Given the description of an element on the screen output the (x, y) to click on. 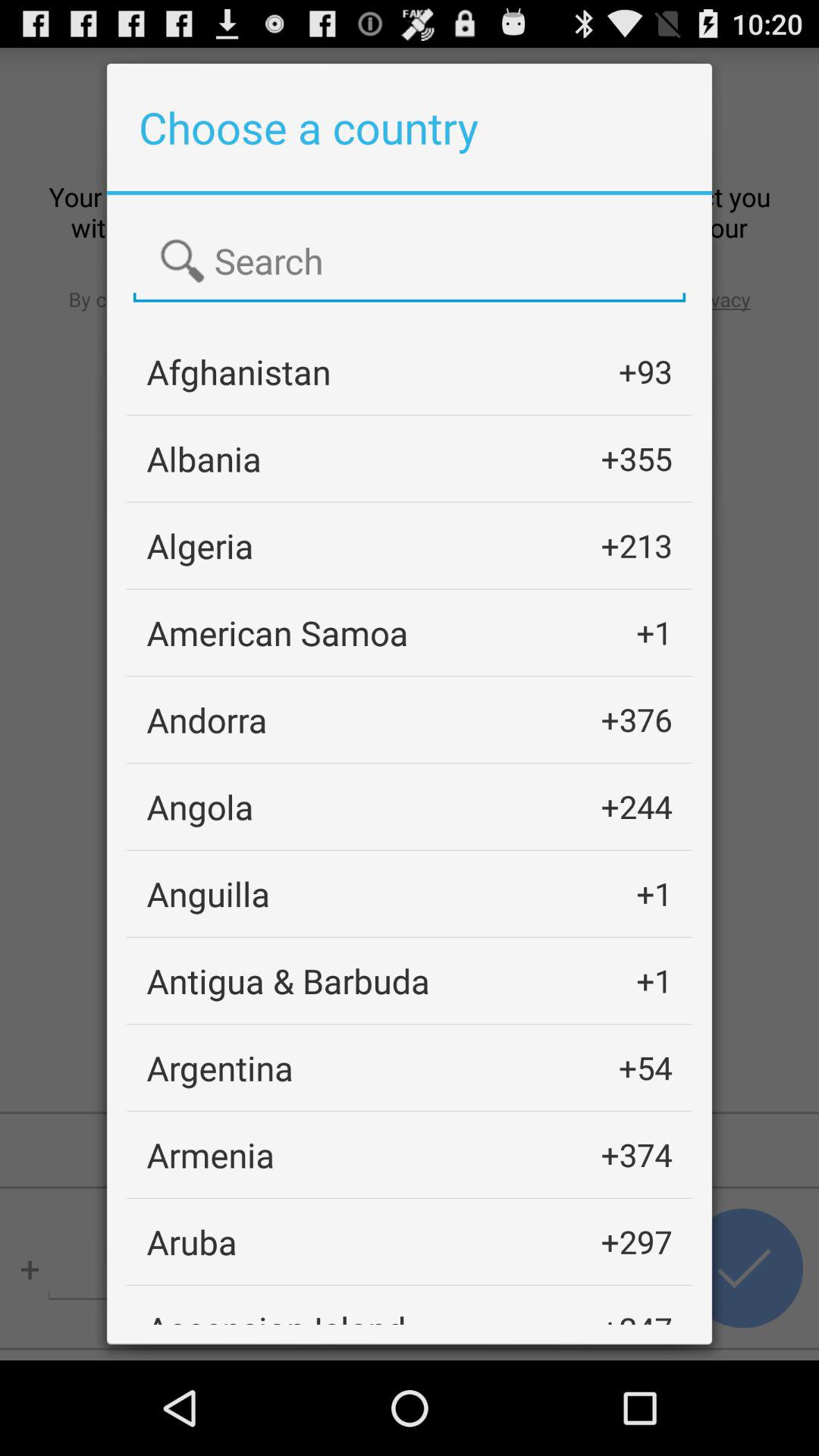
scroll to the albania app (203, 458)
